Given the description of an element on the screen output the (x, y) to click on. 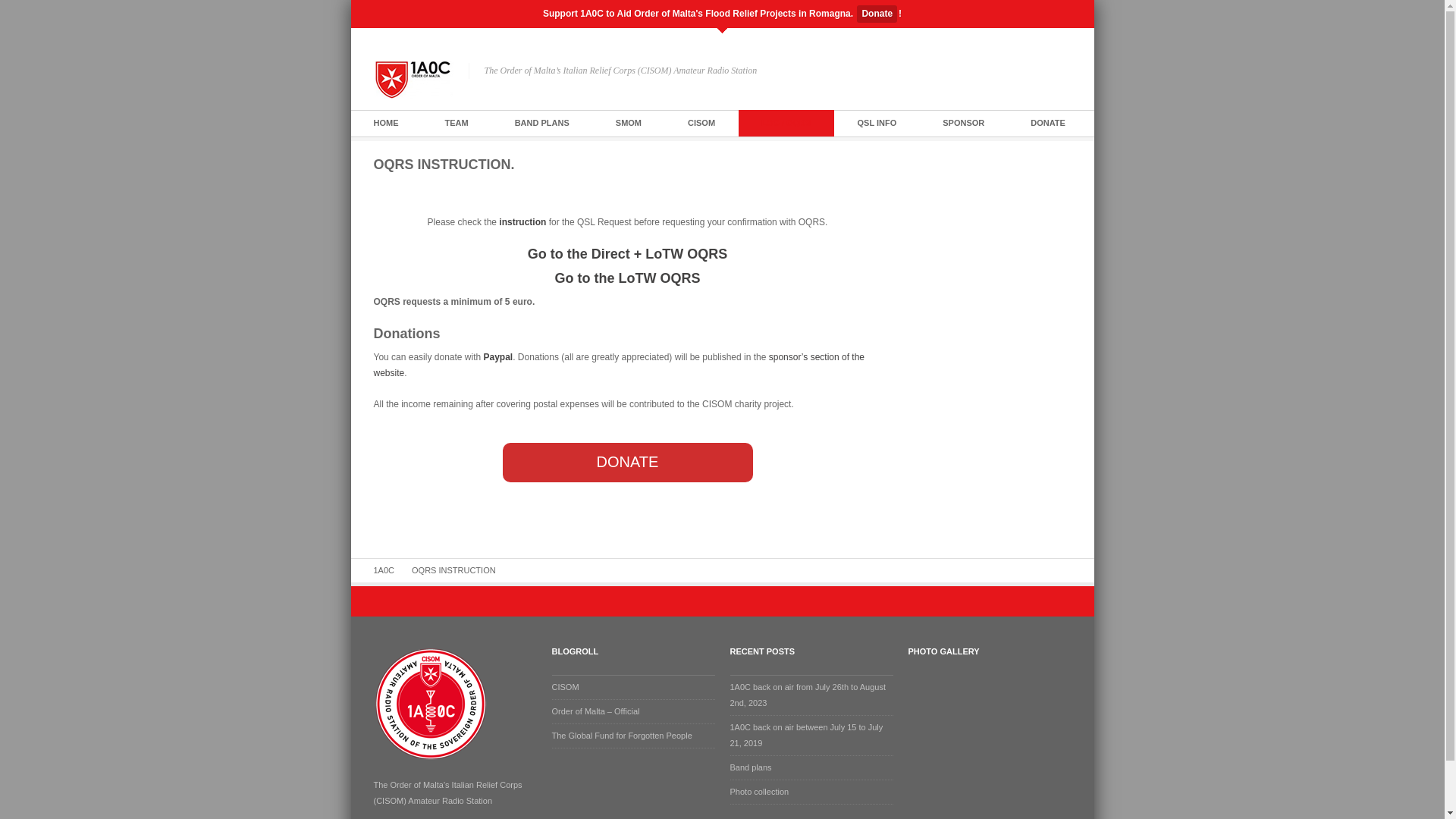
SMOM Element type: text (628, 122)
SPONSOR Element type: text (963, 122)
Band plans Element type: text (750, 766)
Go to the Direct + LoTW OQRS Element type: text (627, 253)
QSL INFO Element type: text (876, 122)
Donate Element type: text (876, 13)
DONATE Element type: text (627, 462)
CISOM Element type: text (565, 686)
BAND PLANS Element type: text (542, 122)
instruction Element type: text (522, 221)
LOG / OQRS Element type: text (785, 122)
1A0C back on air from July 26th to August 2nd, 2023 Element type: text (806, 694)
The Global Fund for Forgotten People Element type: text (622, 735)
Twitter Element type: text (1044, 70)
TEAM Element type: text (455, 122)
1A0C Element type: text (388, 569)
CISOM Element type: text (701, 122)
YouTube Element type: text (1064, 70)
HOME Element type: text (385, 122)
Photo collection Element type: text (758, 791)
Go to the LoTW OQRS Element type: text (627, 277)
Paypal Element type: text (498, 356)
1A0C back on air between July 15 to July 21, 2019 Element type: text (805, 734)
DONATE Element type: text (1047, 122)
